Given the description of an element on the screen output the (x, y) to click on. 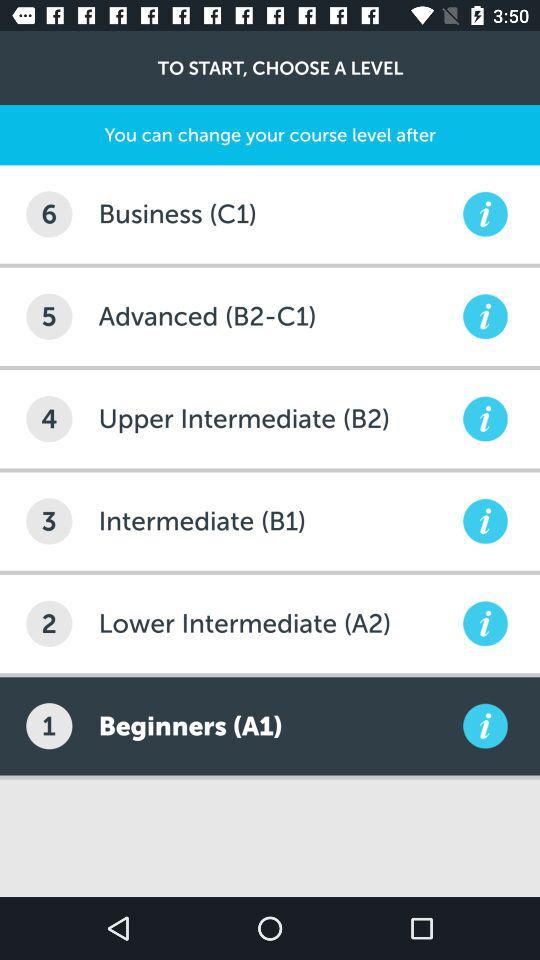
flip until the lower intermediate (a2) icon (277, 623)
